Given the description of an element on the screen output the (x, y) to click on. 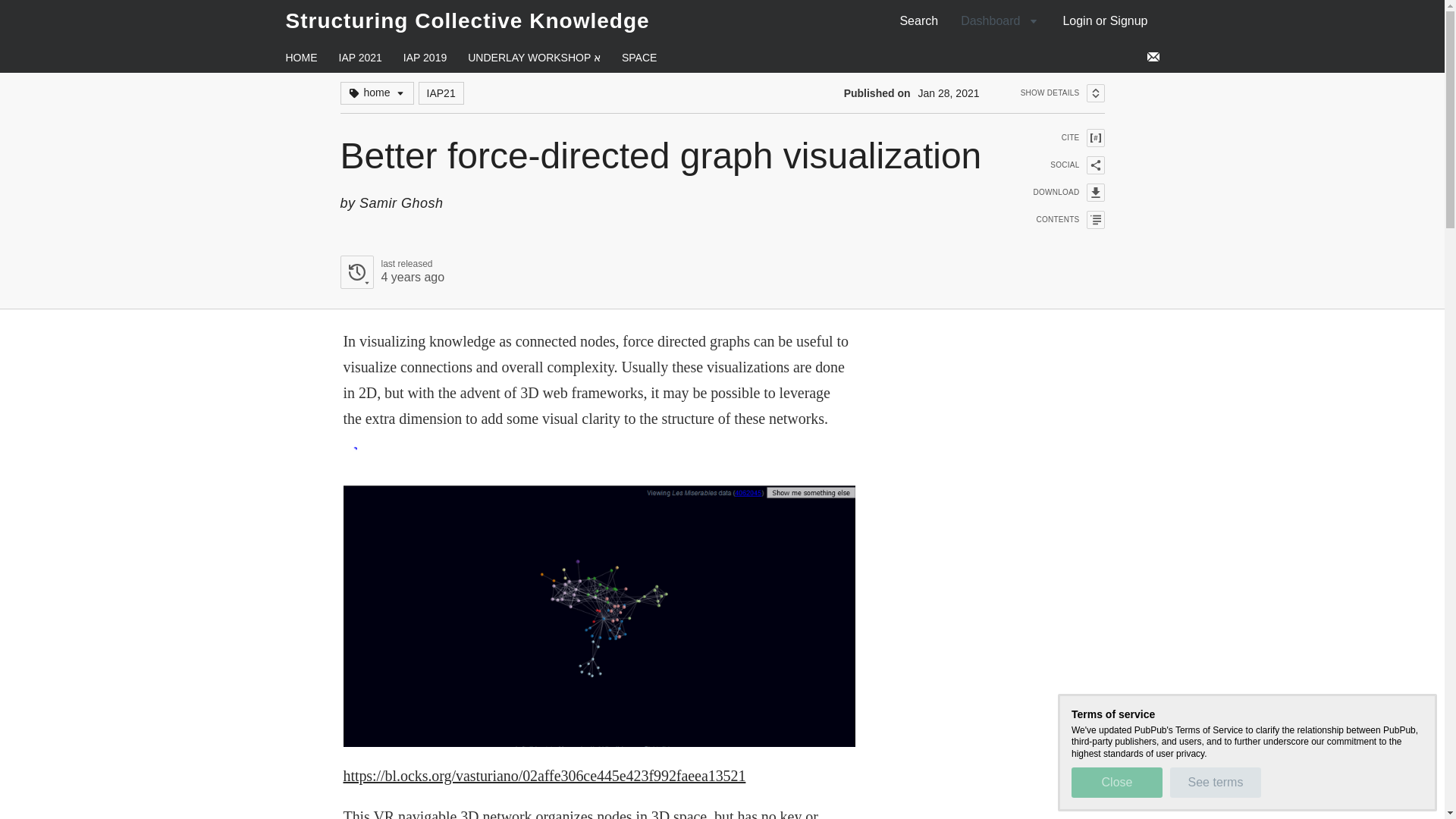
SOCIAL (1058, 165)
Login or Signup (391, 272)
Dashboard (1104, 20)
IAP 2021 (1000, 20)
Structuring Collective Knowledge (359, 57)
Close (467, 20)
See terms (1116, 782)
IAP 2019 (1215, 782)
SHOW DETAILS (424, 57)
